Given the description of an element on the screen output the (x, y) to click on. 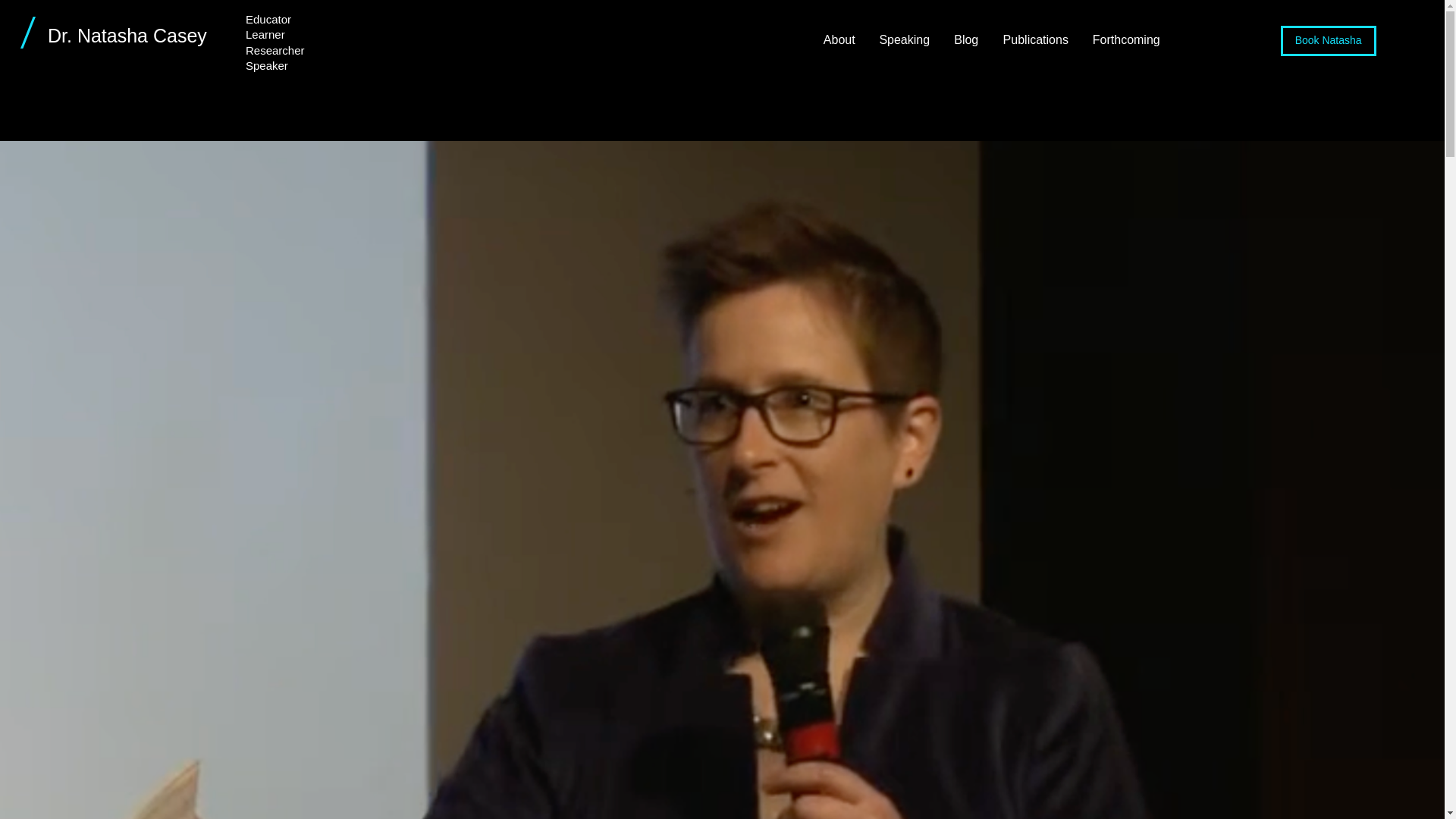
Publications (1035, 39)
Blog (966, 39)
Book Natasha (1328, 40)
Speaker (267, 65)
Forthcoming (1126, 39)
Dr. Natasha Casey (127, 35)
About (838, 39)
Educator (268, 19)
Researcher (275, 50)
Speaking (904, 39)
